Given the description of an element on the screen output the (x, y) to click on. 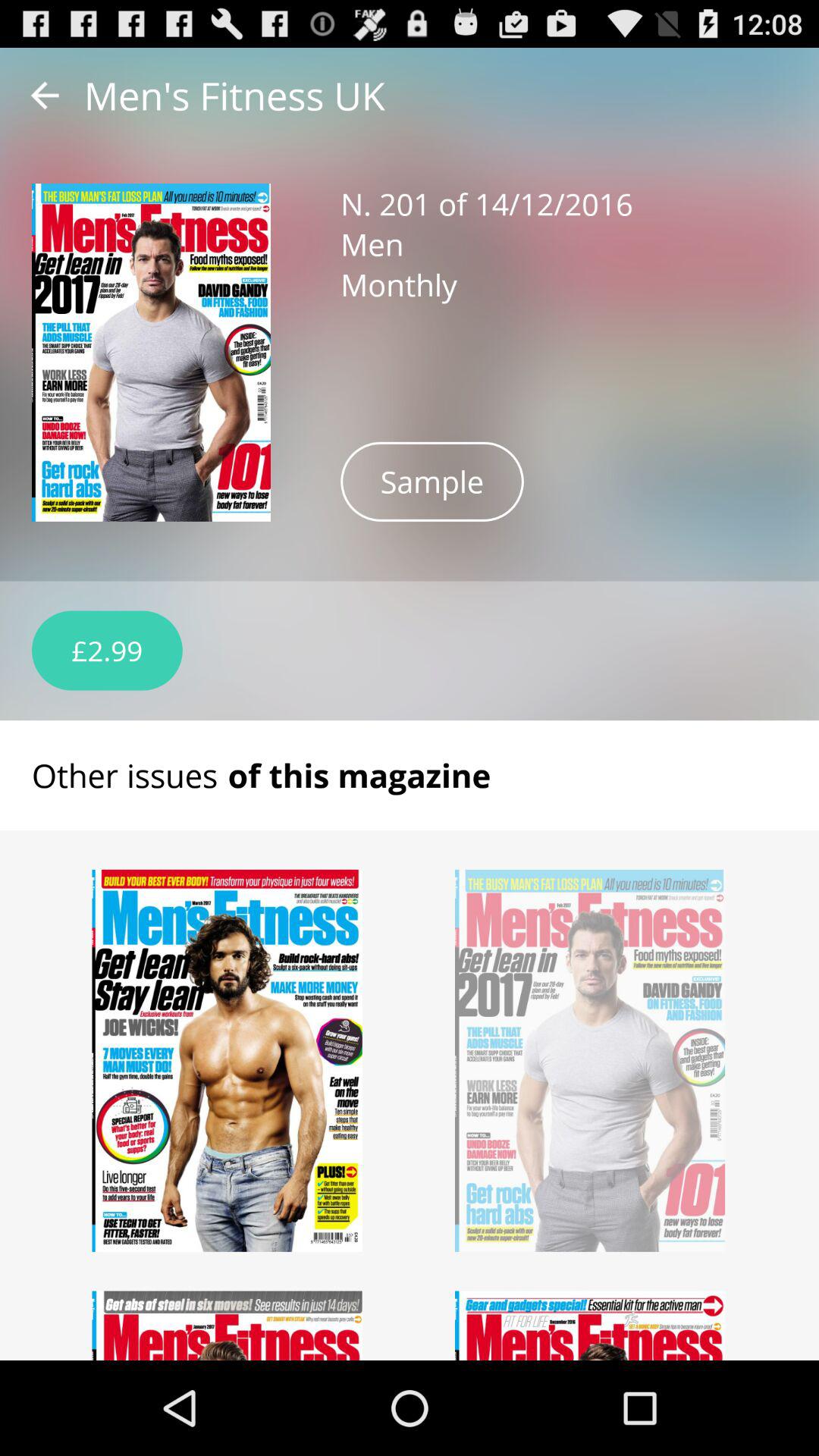
see article (590, 1325)
